Given the description of an element on the screen output the (x, y) to click on. 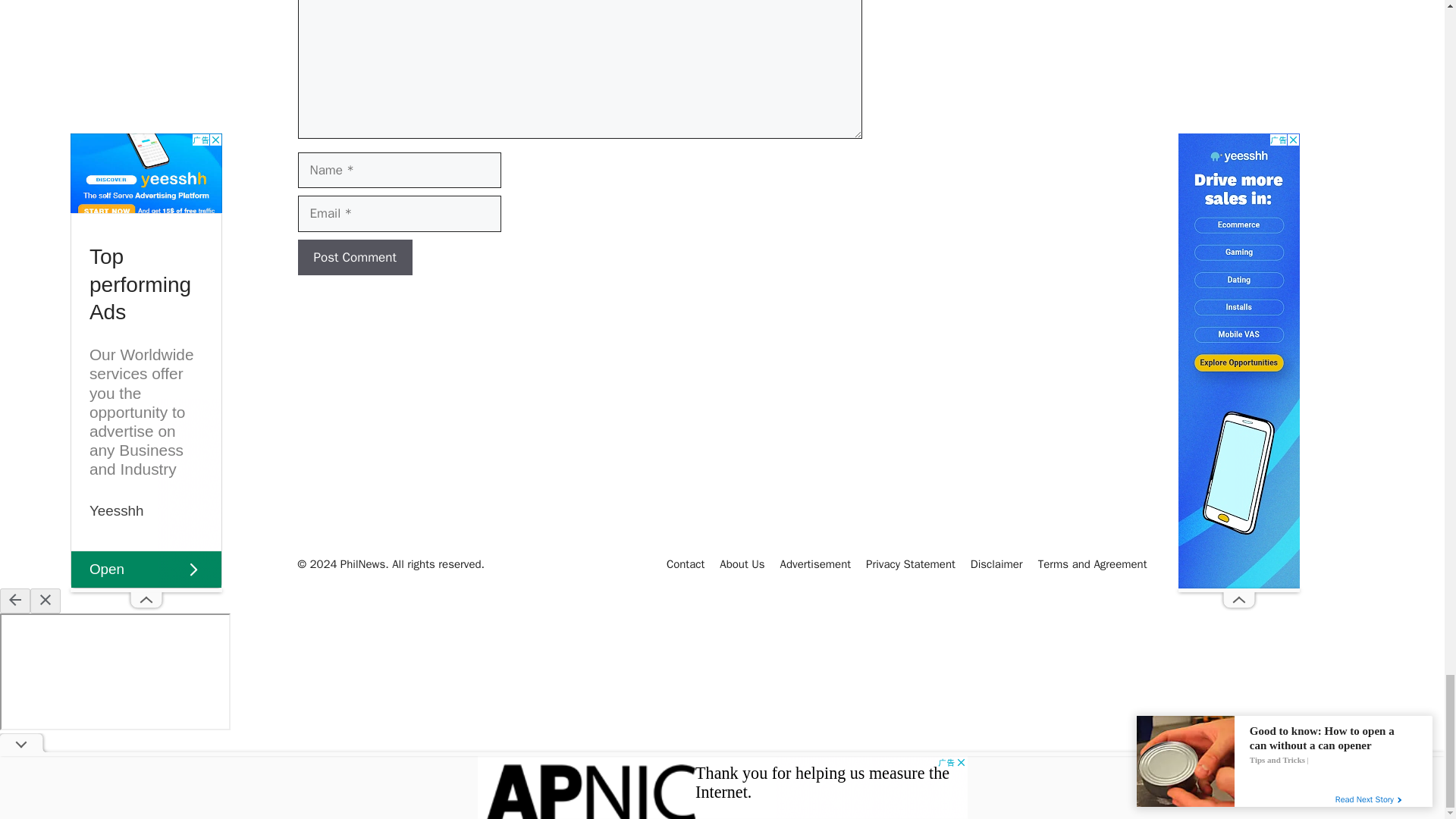
Post Comment (354, 257)
